Given the description of an element on the screen output the (x, y) to click on. 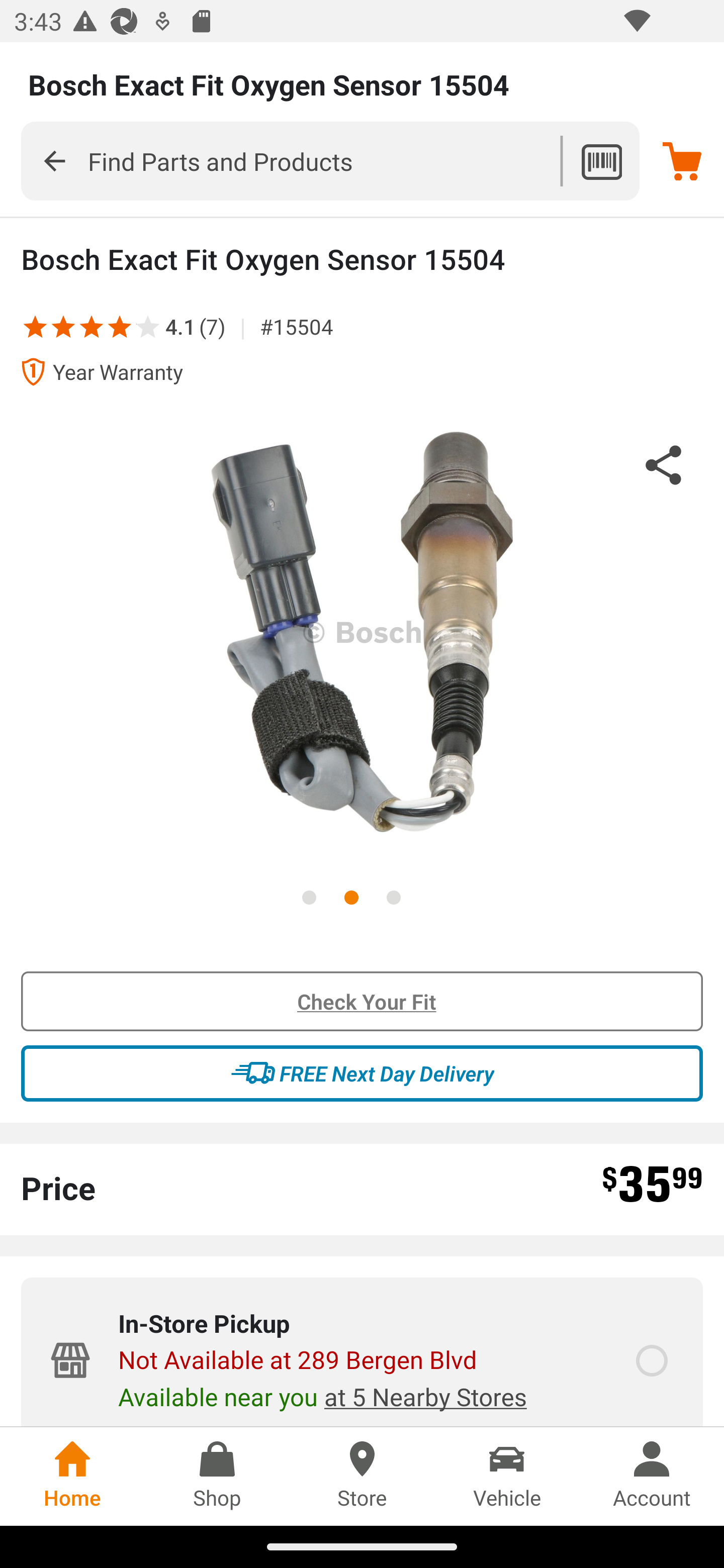
 scan-product-to-search  (601, 161)
 (54, 160)
Cart, no items  (681, 160)
 (34, 326)
 (63, 326)
 (91, 326)
 (119, 326)
 (134, 326)
share button (663, 468)
Check your fit Check Your Fit (361, 1001)
In-Store Pickup (651, 1360)
Home (72, 1475)
Shop (216, 1475)
Store (361, 1475)
Vehicle (506, 1475)
Account (651, 1475)
